Given the description of an element on the screen output the (x, y) to click on. 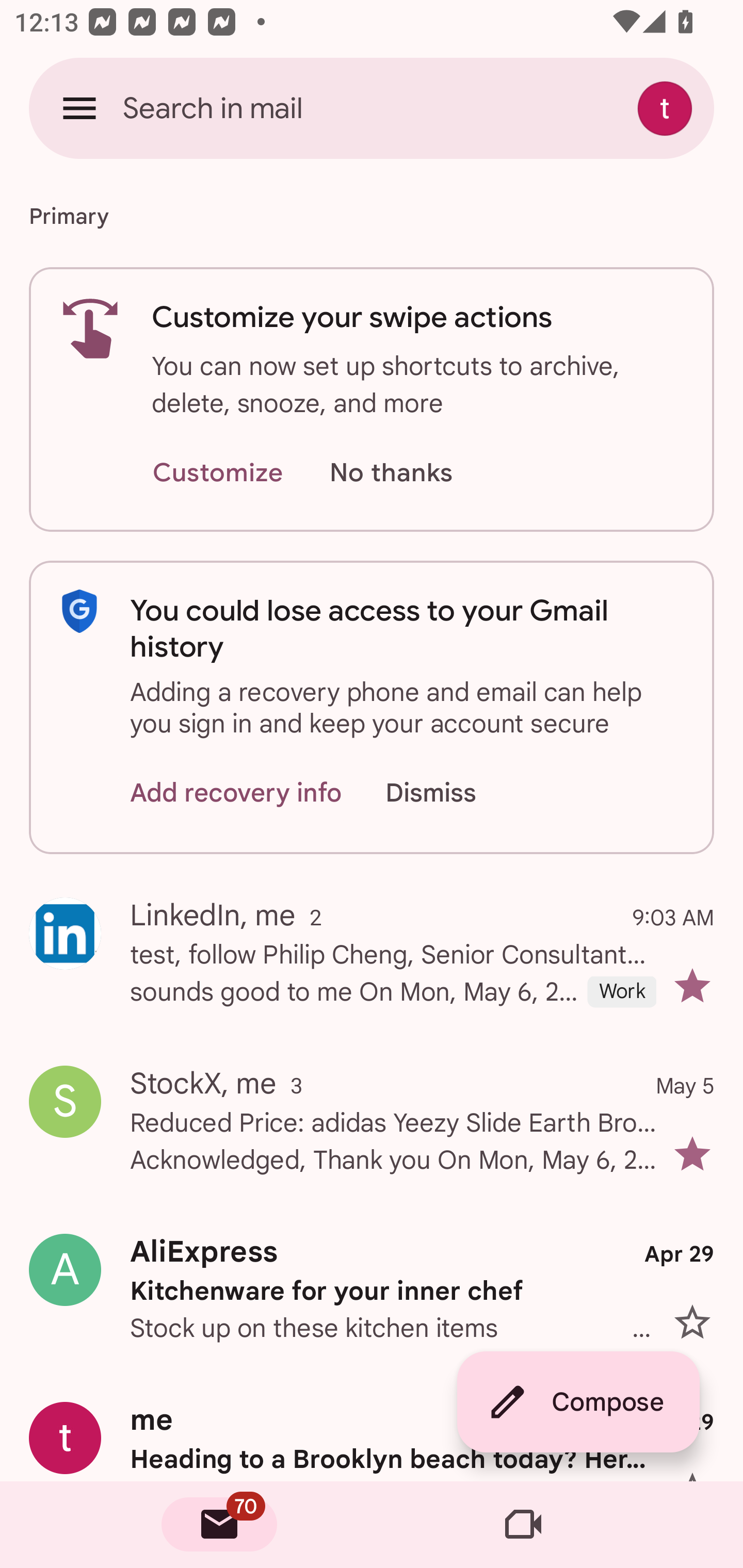
Open navigation drawer (79, 108)
Customize (217, 473)
No thanks (390, 473)
Add recovery info (235, 792)
Dismiss (449, 792)
Compose (577, 1401)
Meet (523, 1524)
